Given the description of an element on the screen output the (x, y) to click on. 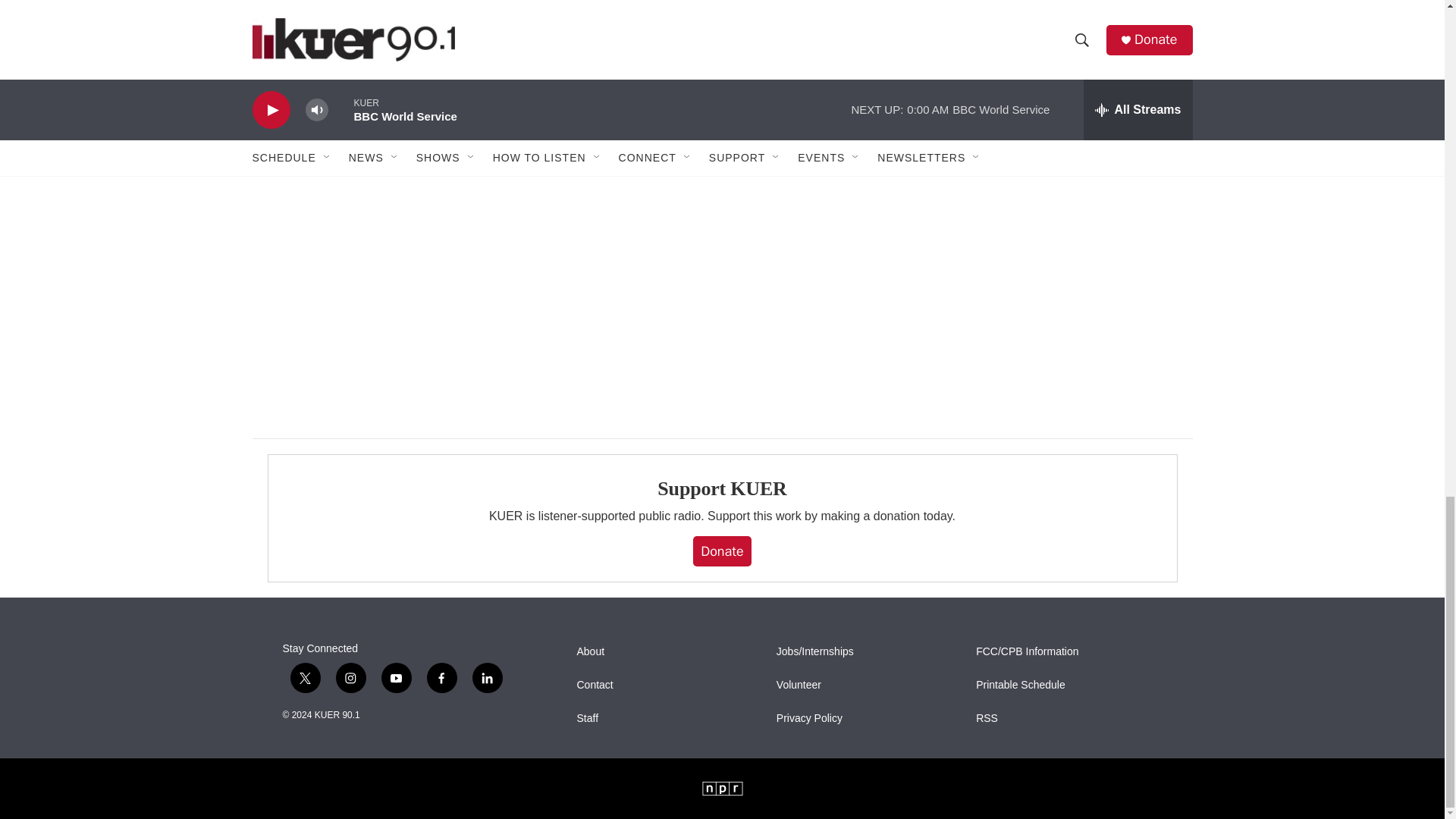
3rd party ad content (1062, 52)
3rd party ad content (1062, 248)
